Given the description of an element on the screen output the (x, y) to click on. 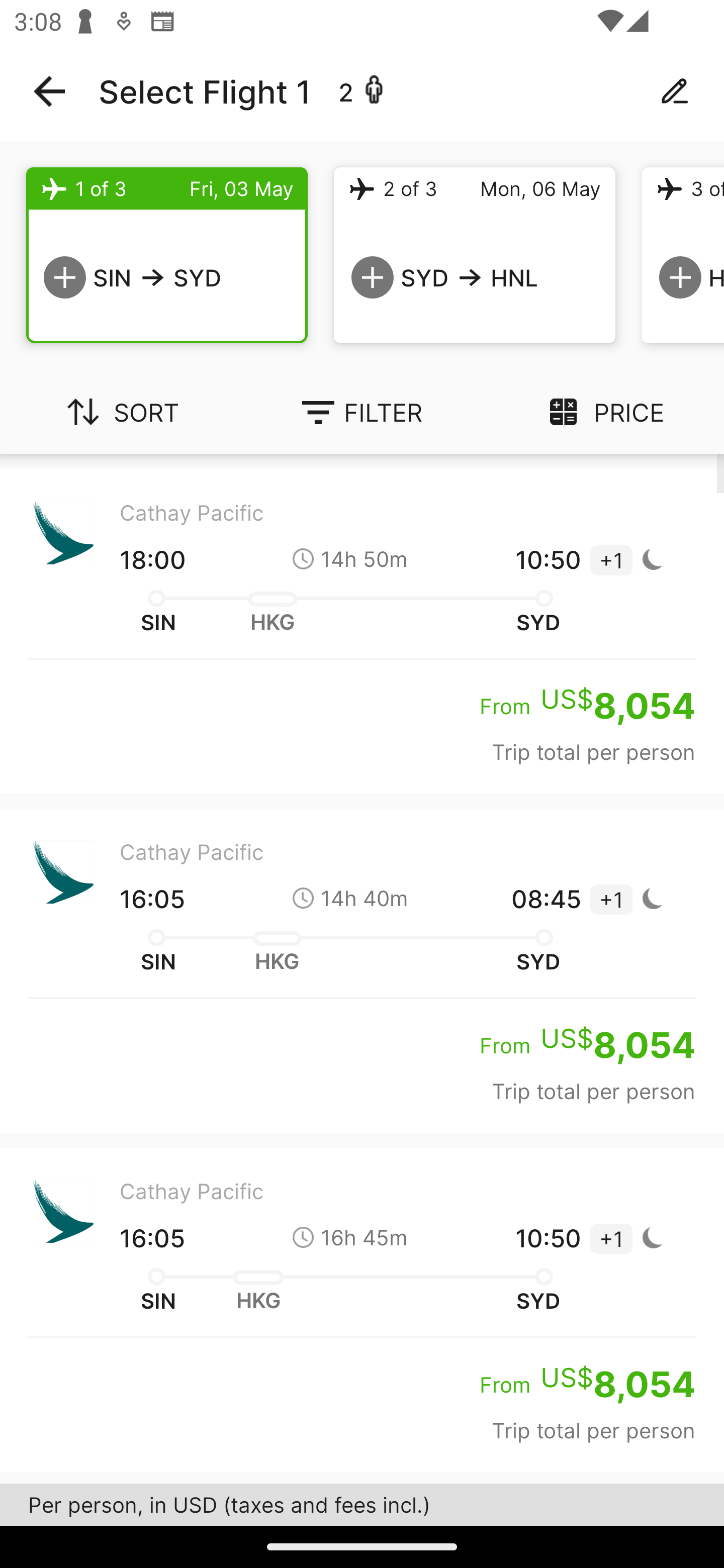
Select Flight 1   2 - (362, 91)
1 of 3 Fri, 03 May SIN SYD (166, 255)
2 of 3 Mon, 06 May SYD HNL (474, 255)
SORT (120, 412)
FILTER (361, 412)
PRICE (603, 412)
Cathay Pacific (362, 1498)
